Given the description of an element on the screen output the (x, y) to click on. 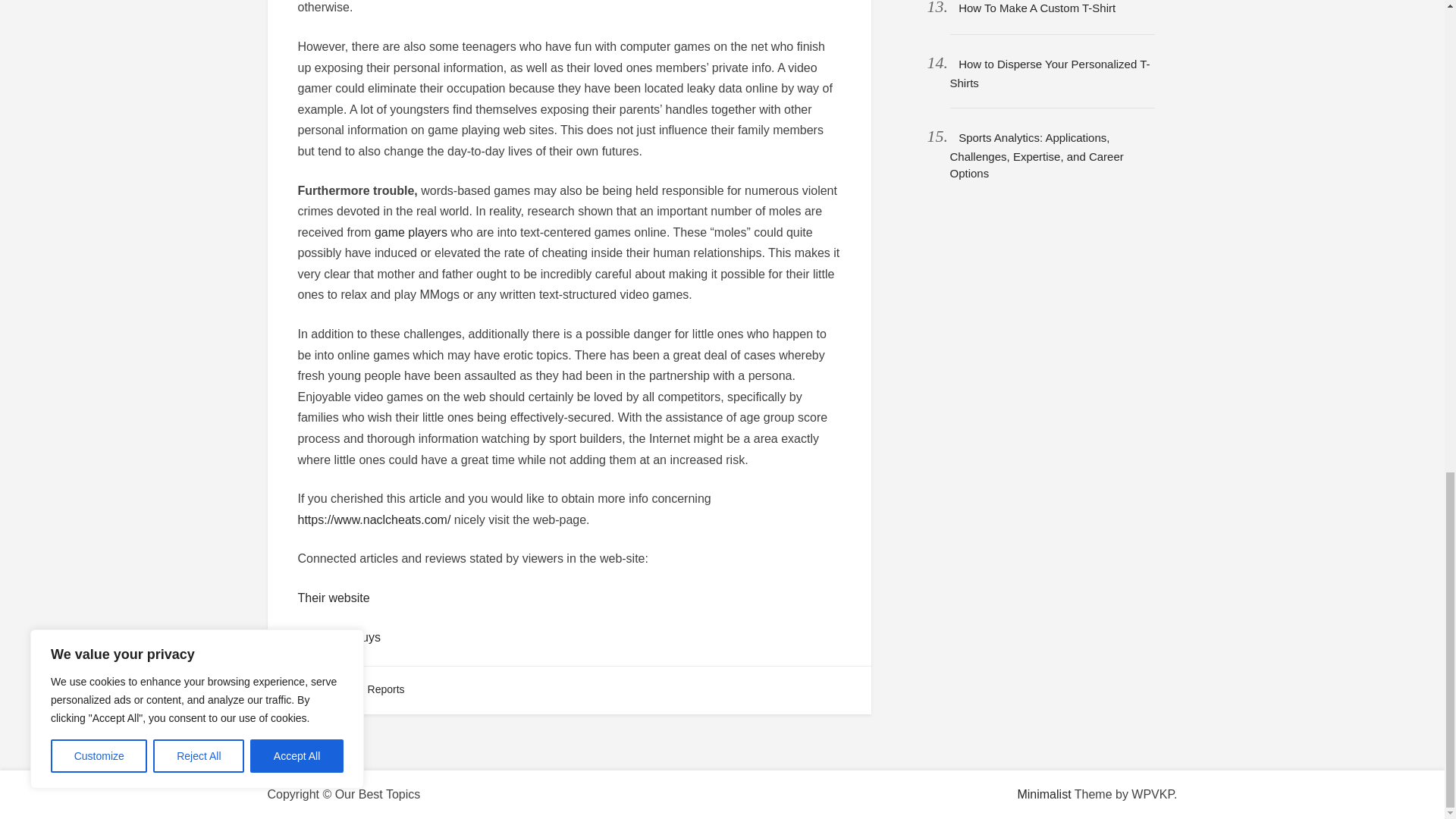
game players (410, 232)
visit these guys (338, 636)
General (324, 689)
Reports (386, 689)
Their website (333, 597)
